Given the description of an element on the screen output the (x, y) to click on. 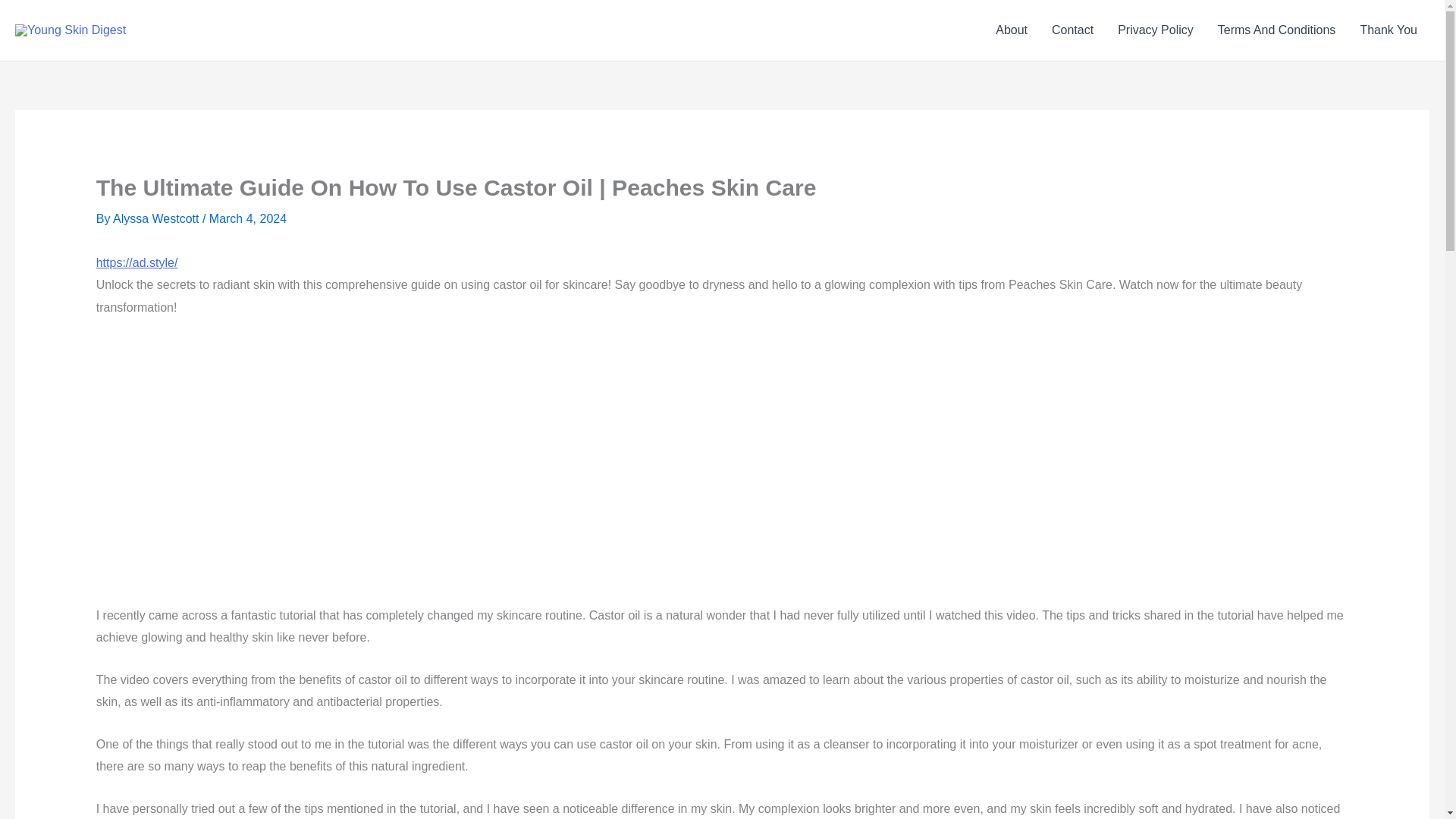
Terms And Conditions (1276, 30)
View all posts by Alyssa Westcott (157, 218)
Alyssa Westcott (157, 218)
Privacy Policy (1155, 30)
Contact (1072, 30)
About (1011, 30)
Thank You (1388, 30)
